Given the description of an element on the screen output the (x, y) to click on. 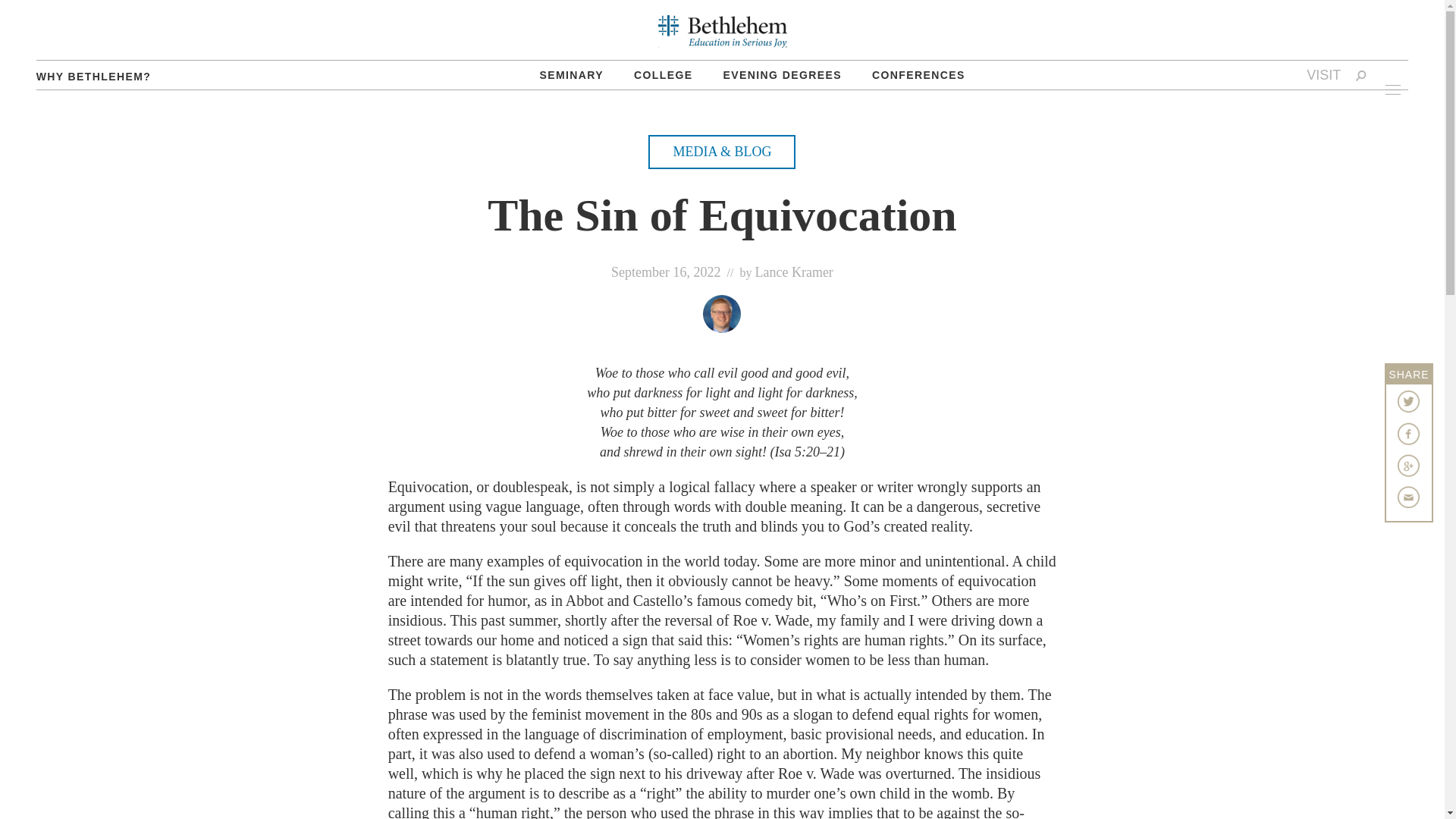
CONFERENCES (918, 74)
Share by Email (1409, 497)
Bethlehem College and Seminary (722, 31)
SEMINARY (571, 74)
EVENING DEGREES (782, 74)
VISIT (1323, 74)
WHY BETHLEHEM? (93, 76)
Lance Kramer (793, 272)
COLLEGE (662, 74)
September 16, 2022 (665, 272)
